Given the description of an element on the screen output the (x, y) to click on. 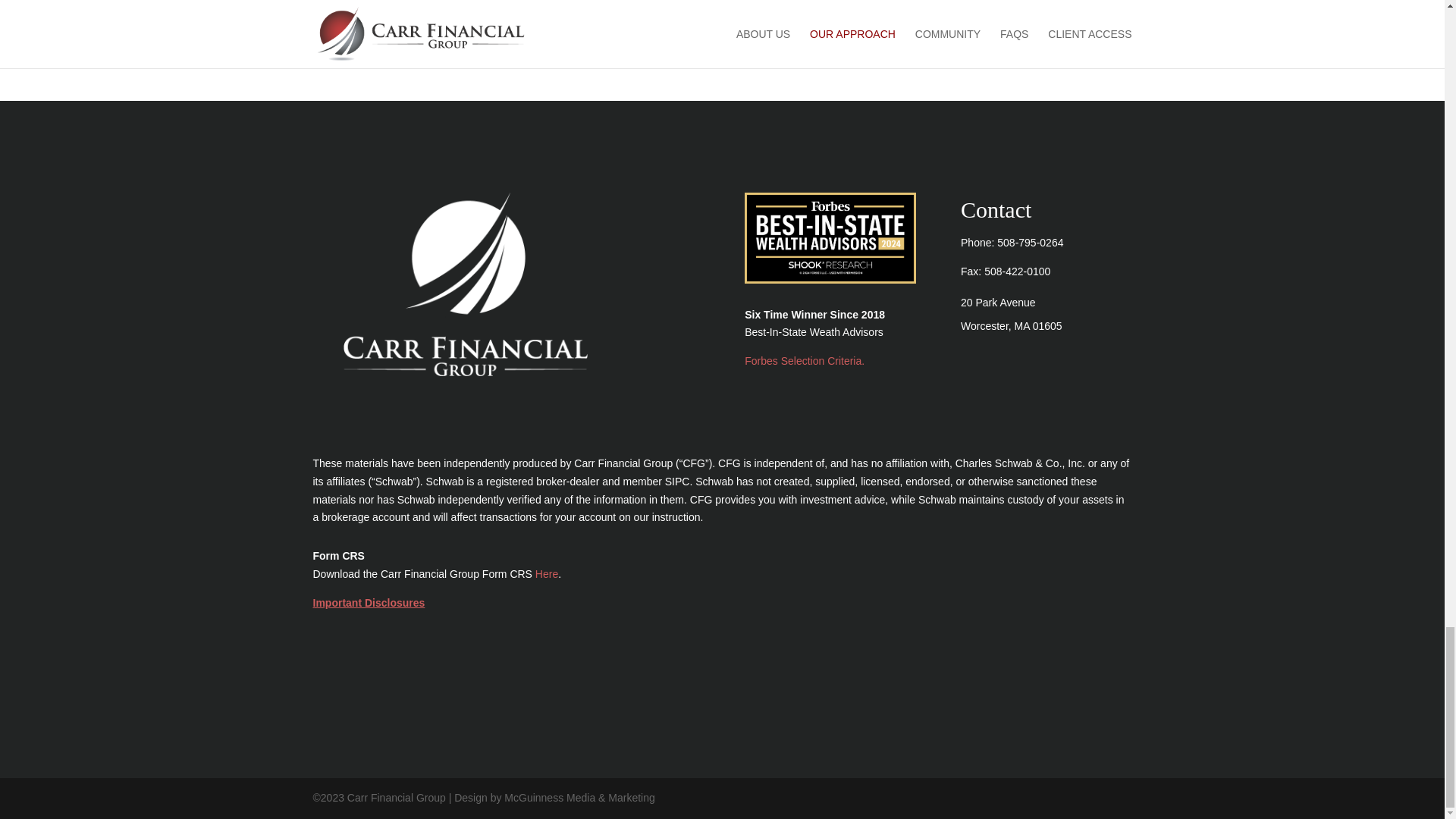
Important Disclosures (369, 603)
Forbes Selection Criteria. (804, 360)
Important Disclosures (369, 603)
fax (1016, 271)
Worcester, MA 01605 (1011, 326)
Here (546, 573)
CARR-LogoStacked-White (465, 283)
phone (1029, 242)
20 Park Avenue (997, 302)
